Given the description of an element on the screen output the (x, y) to click on. 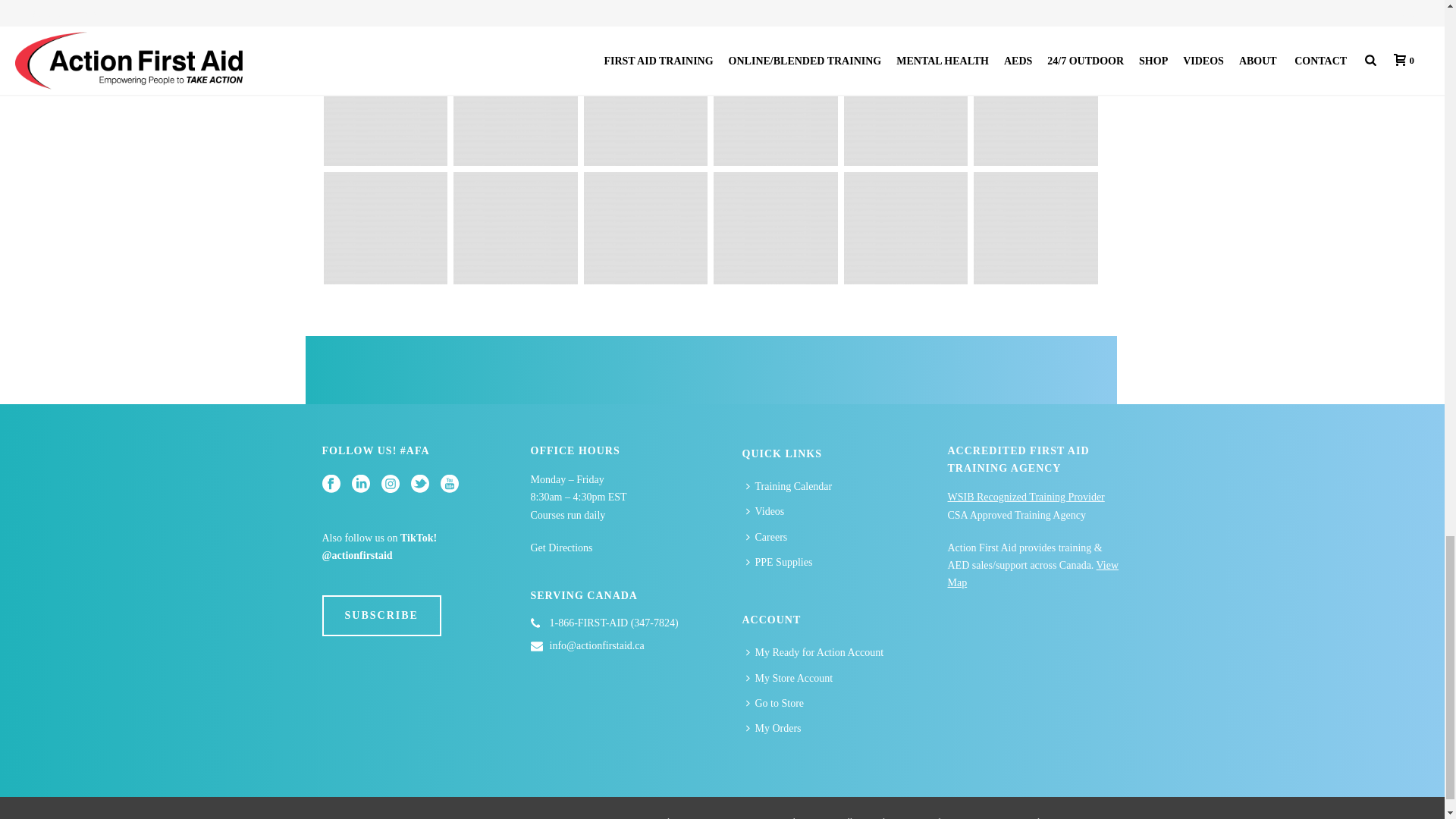
Shock on the Dock (515, 110)
SUBSCRIBE (381, 615)
Shock on the Dock (775, 110)
Shock on the Dock (906, 110)
Shock on the Dock (645, 110)
Shock on the Dock (384, 110)
